Given the description of an element on the screen output the (x, y) to click on. 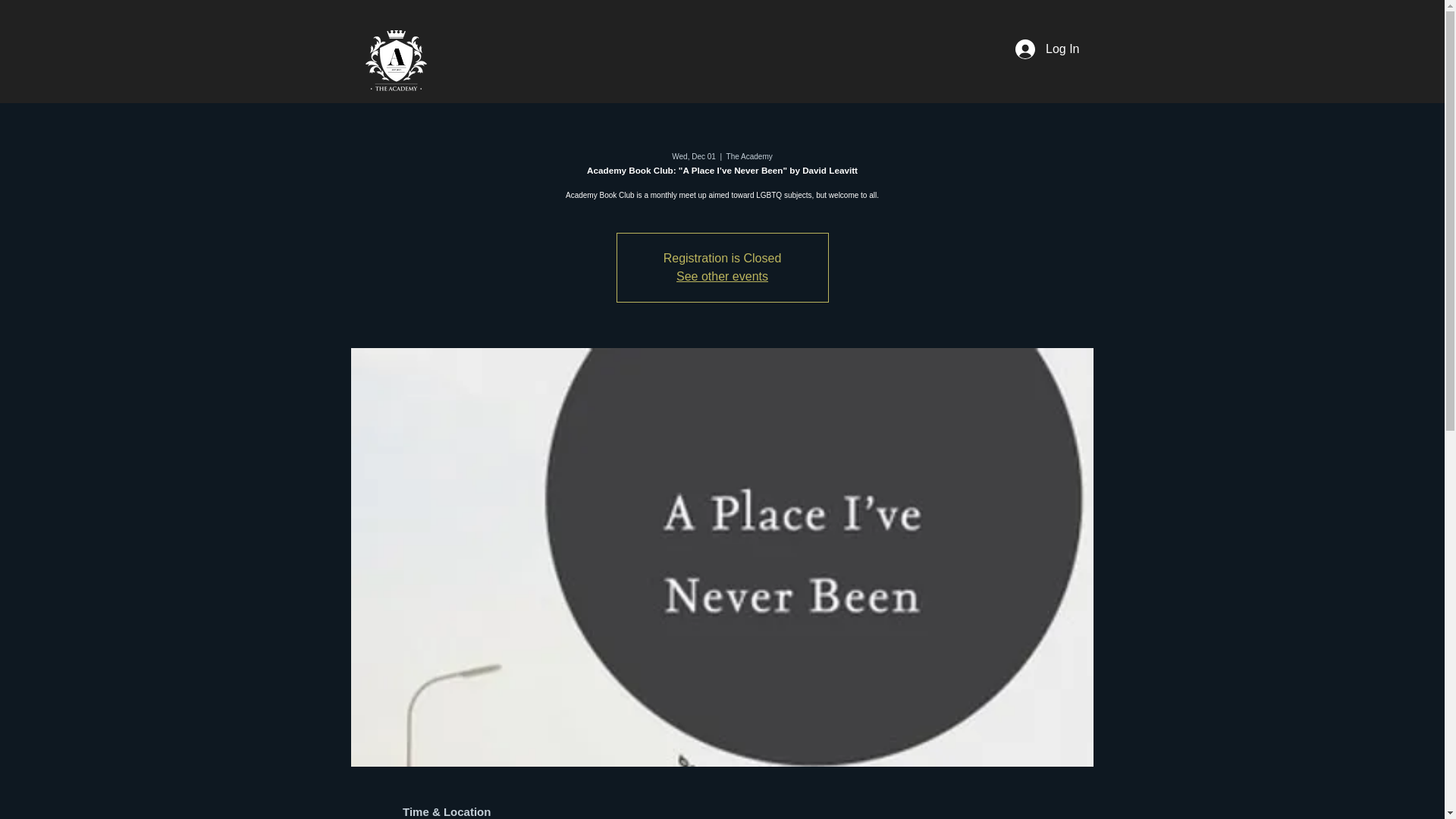
Log In (1046, 49)
See other events (722, 276)
